Given the description of an element on the screen output the (x, y) to click on. 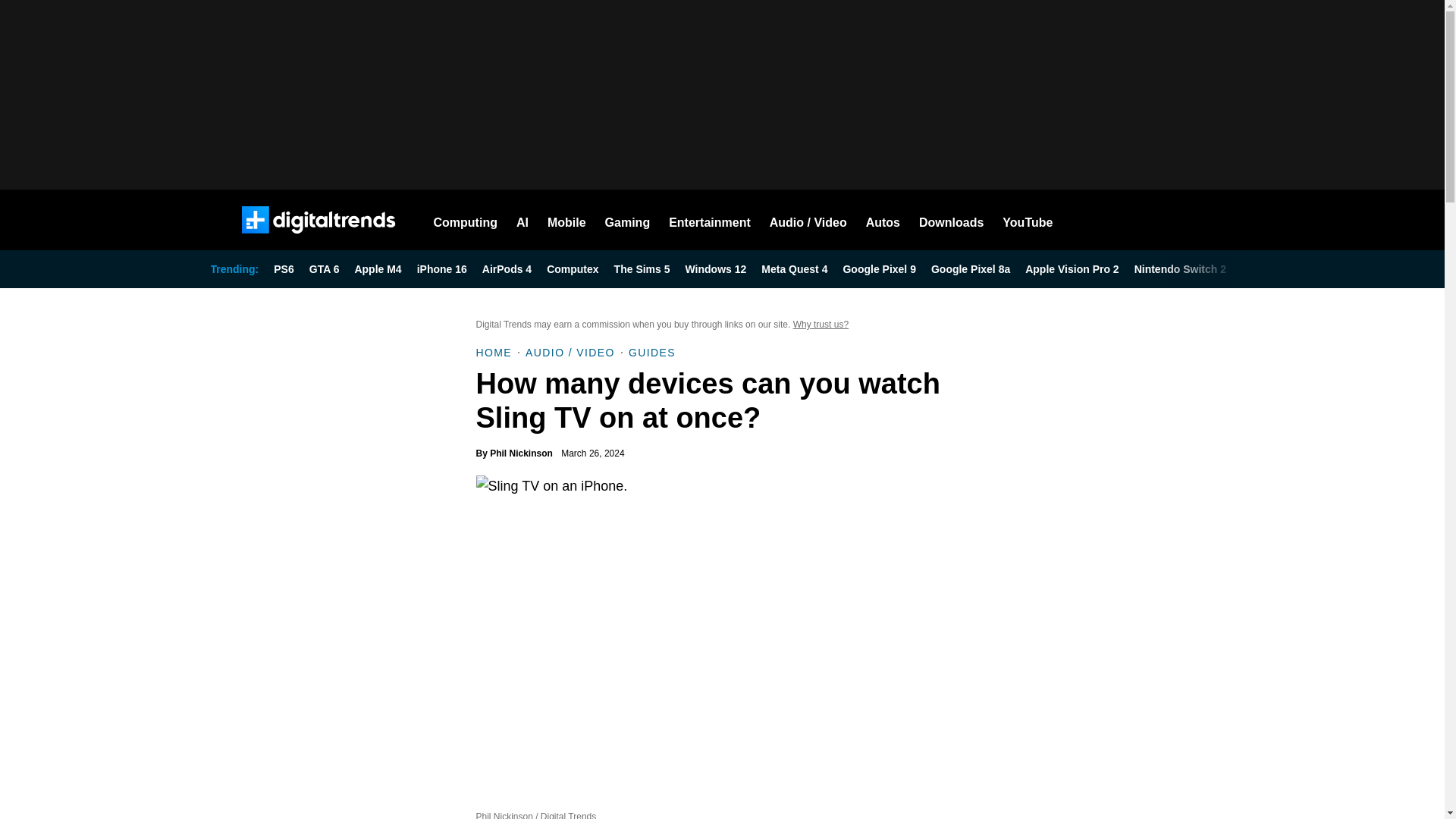
Computing (465, 219)
Autos (882, 219)
Downloads (951, 219)
Gaming (627, 219)
Entertainment (709, 219)
AI (522, 219)
Mobile (566, 219)
YouTube (1027, 219)
